Given the description of an element on the screen output the (x, y) to click on. 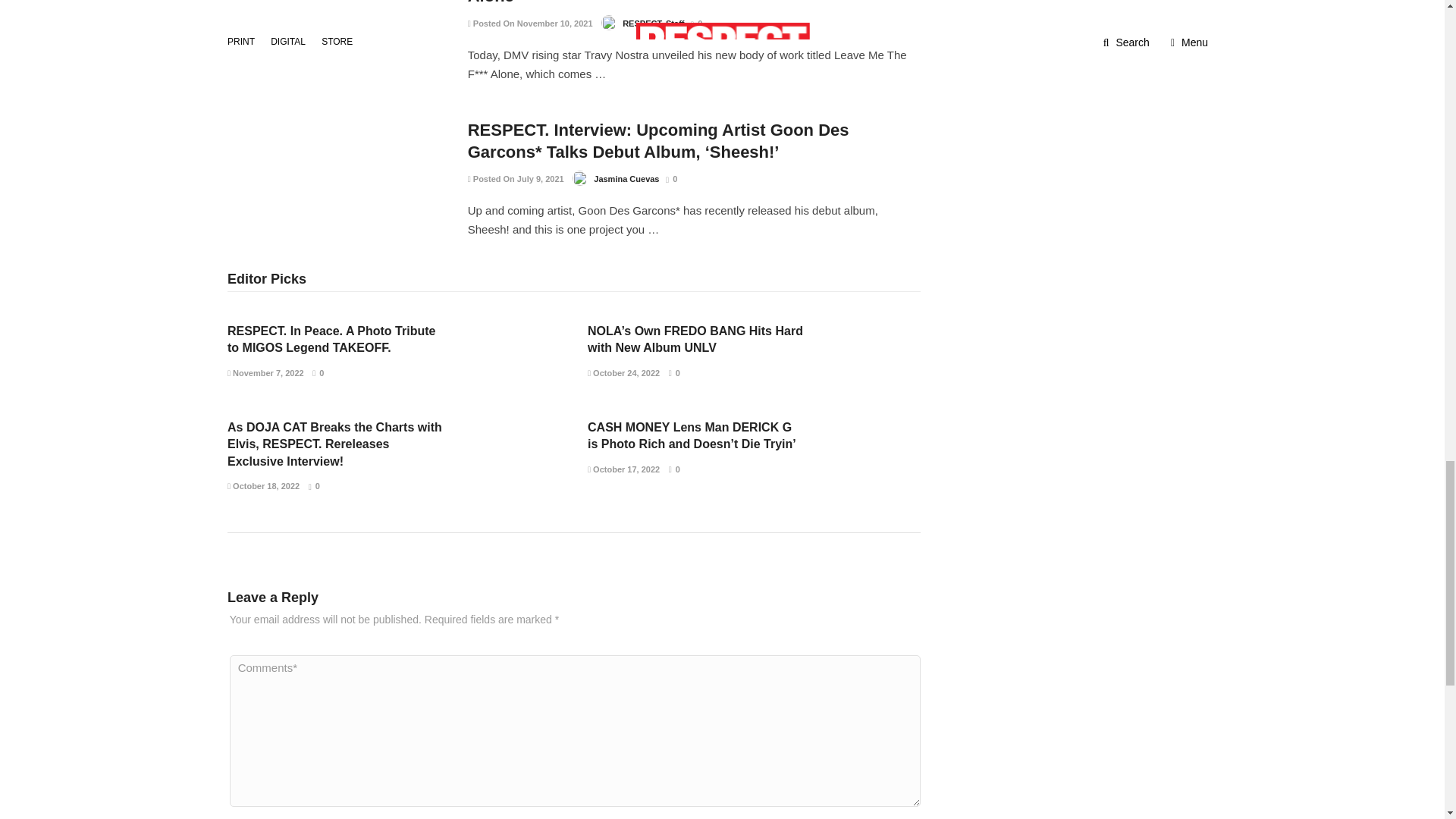
RESPECT. In Peace. A Photo Tribute to MIGOS Legend TAKEOFF. (331, 338)
